Given the description of an element on the screen output the (x, y) to click on. 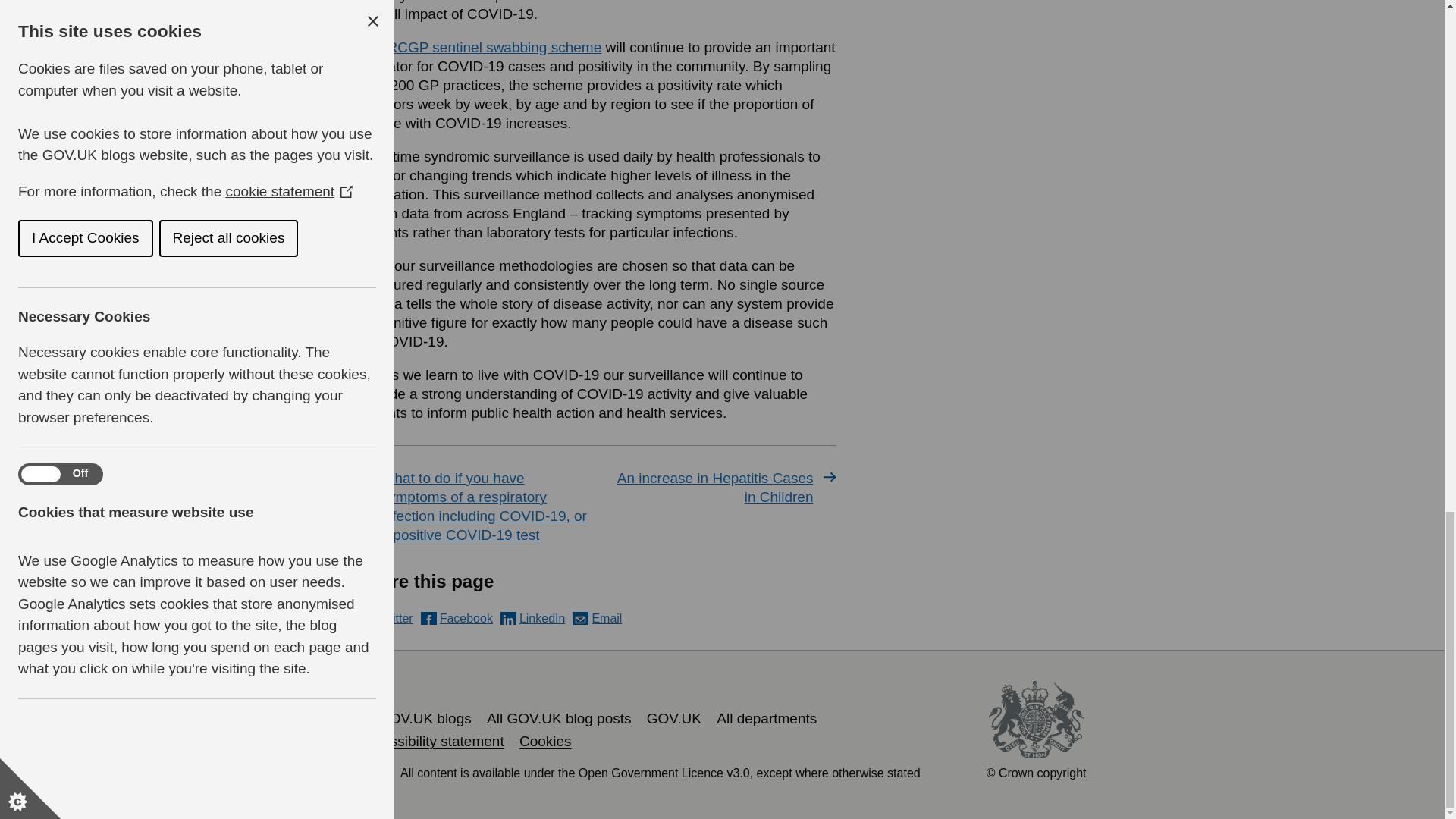
GOV.UK (673, 718)
RCGP sentinel swabbing scheme (494, 47)
LinkedIn (533, 617)
Twitter (385, 617)
All GOV.UK blogs (414, 718)
Email (596, 617)
All departments (766, 718)
Cookies (545, 741)
Open Government Licence v3.0 (663, 772)
